Given the description of an element on the screen output the (x, y) to click on. 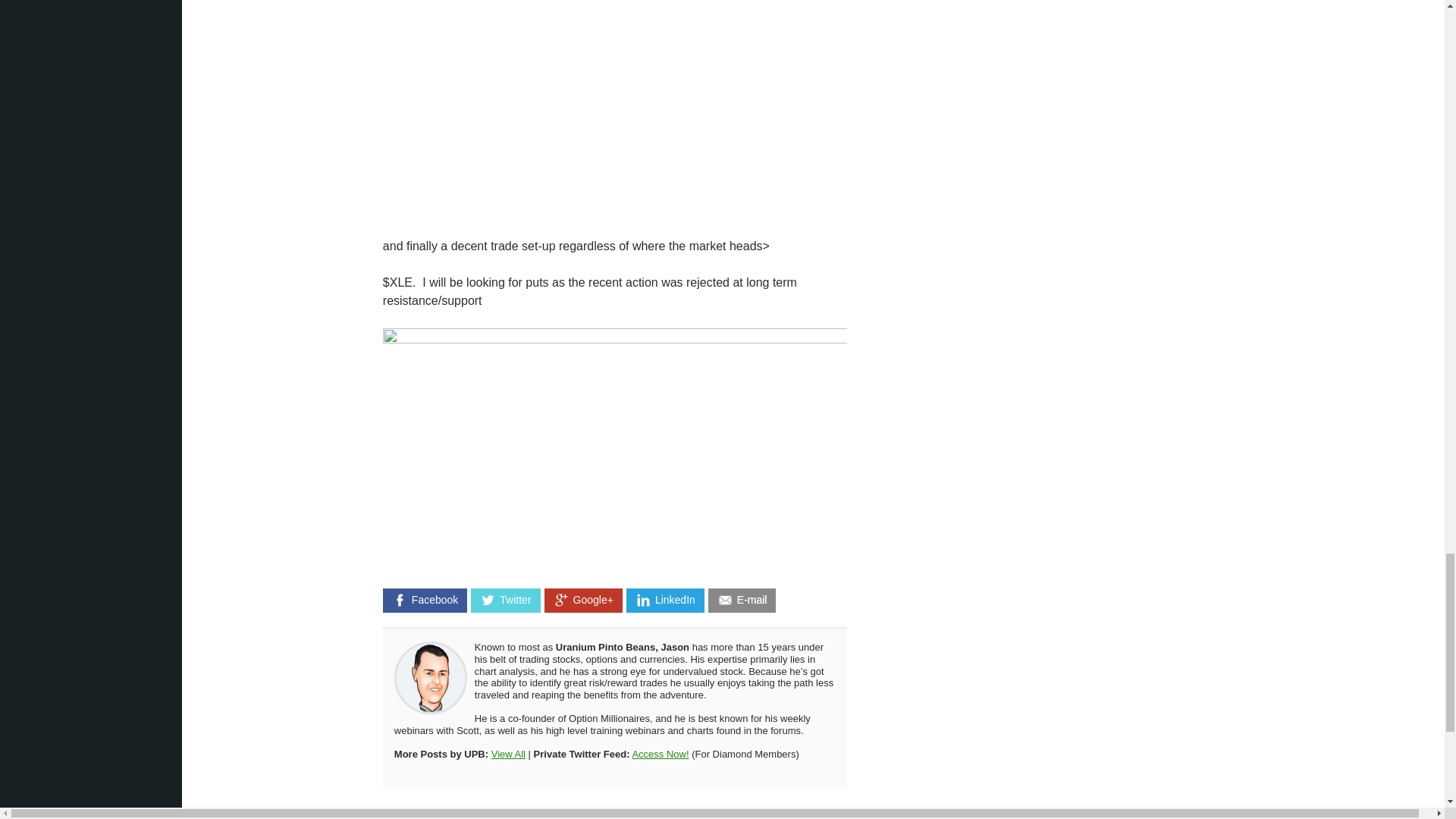
Share this article on Facebook (424, 600)
Share this article on Twitter (505, 600)
Share this article on LinkedIn (665, 600)
